Given the description of an element on the screen output the (x, y) to click on. 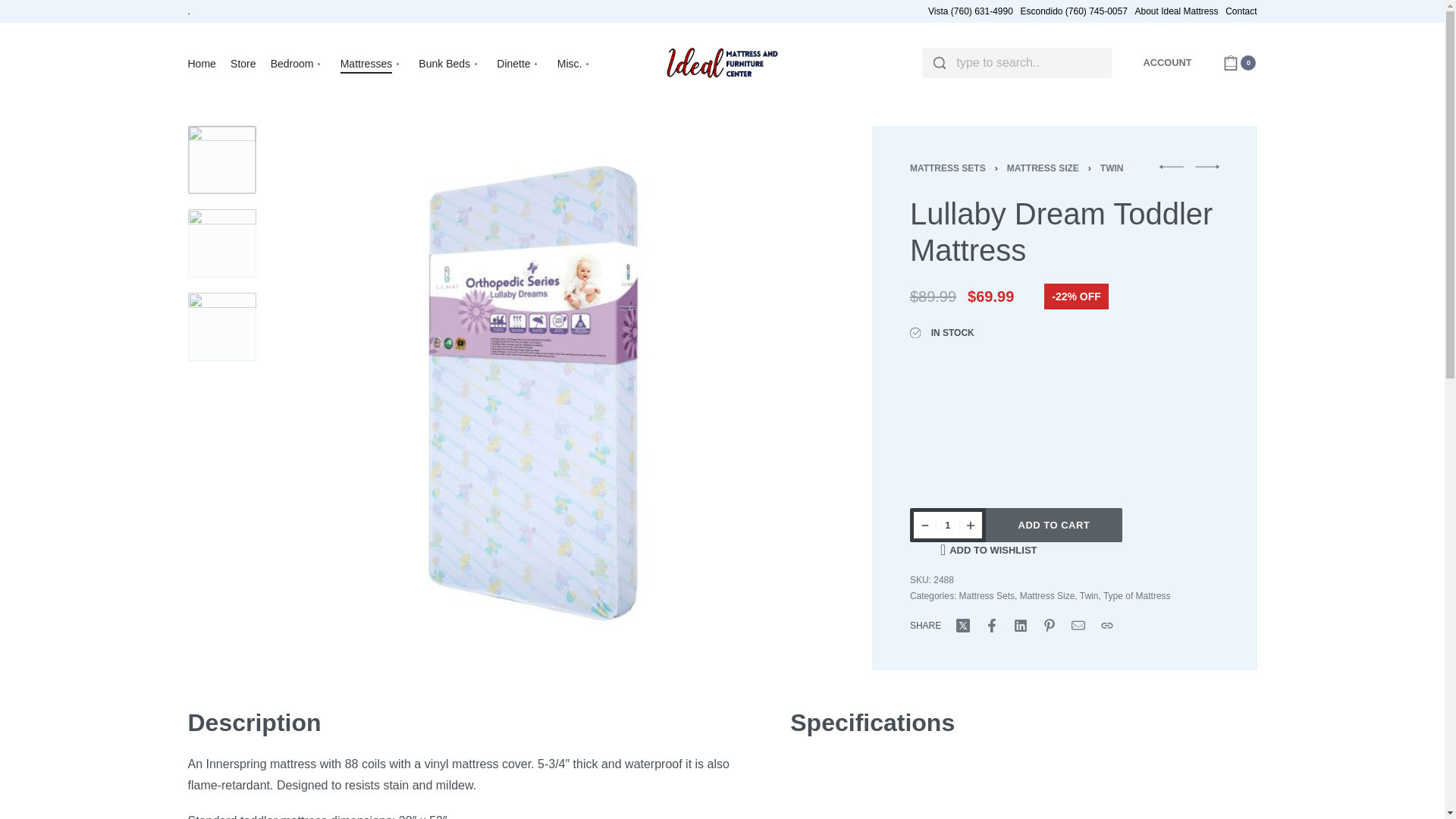
Home (201, 64)
Monet Plush - Hybrid Mattress (1207, 166)
1 (947, 524)
Dinette (518, 64)
Store (243, 64)
About Ideal Mattress (1175, 11)
Bunk Beds (450, 64)
Bedroom (298, 64)
Contact (1240, 11)
Mattresses (372, 64)
Smooth Top Mattress (1170, 166)
